Given the description of an element on the screen output the (x, y) to click on. 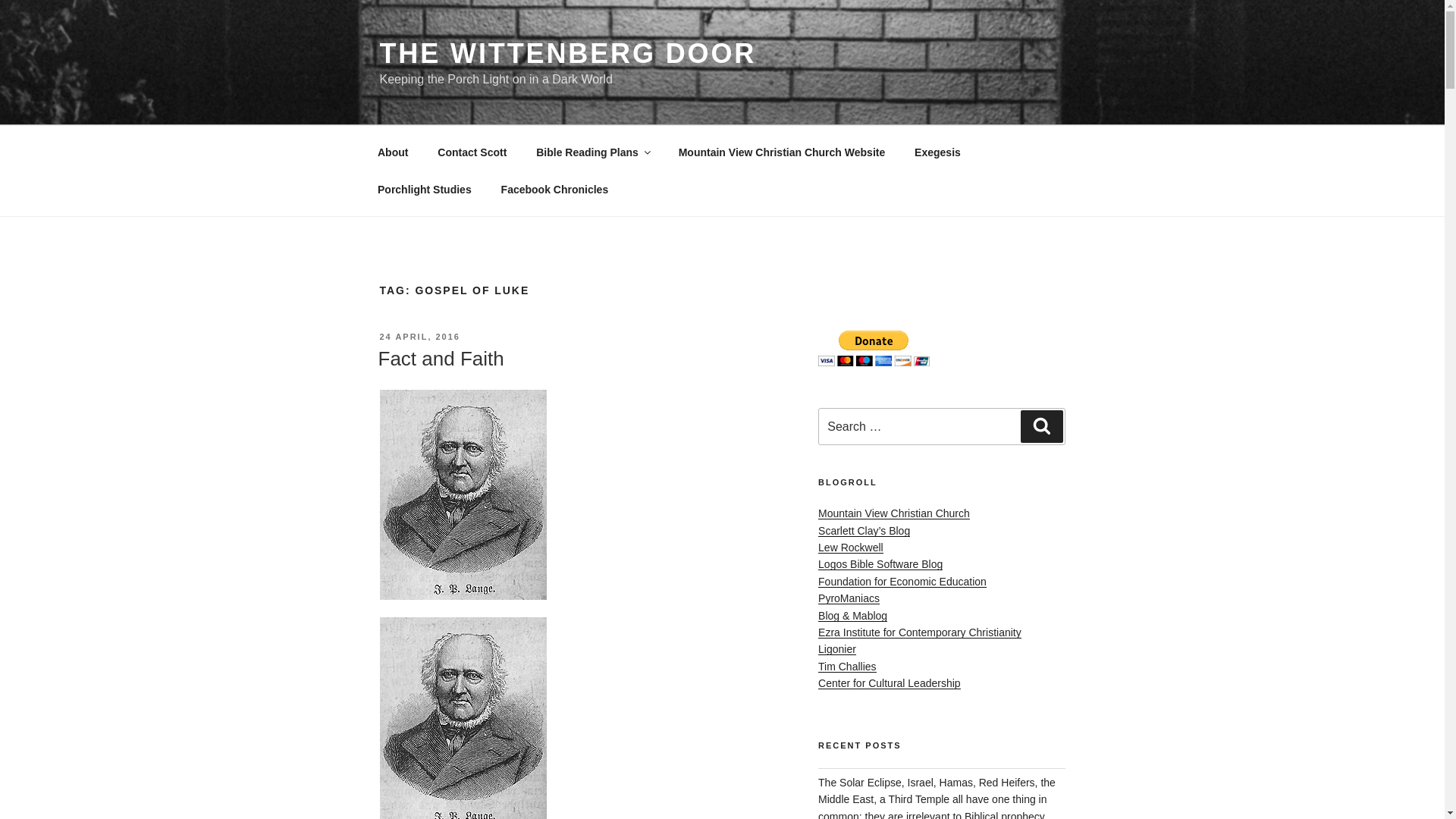
Fact and Faith (440, 358)
THE WITTENBERG DOOR (566, 52)
Exegesis (937, 151)
24 APRIL, 2016 (419, 336)
Porchlight Studies (424, 189)
About (392, 151)
Facebook Chronicles (554, 189)
Mountain View Christian Church Website (781, 151)
Bible Reading Plans (592, 151)
Contact Scott (472, 151)
